Given the description of an element on the screen output the (x, y) to click on. 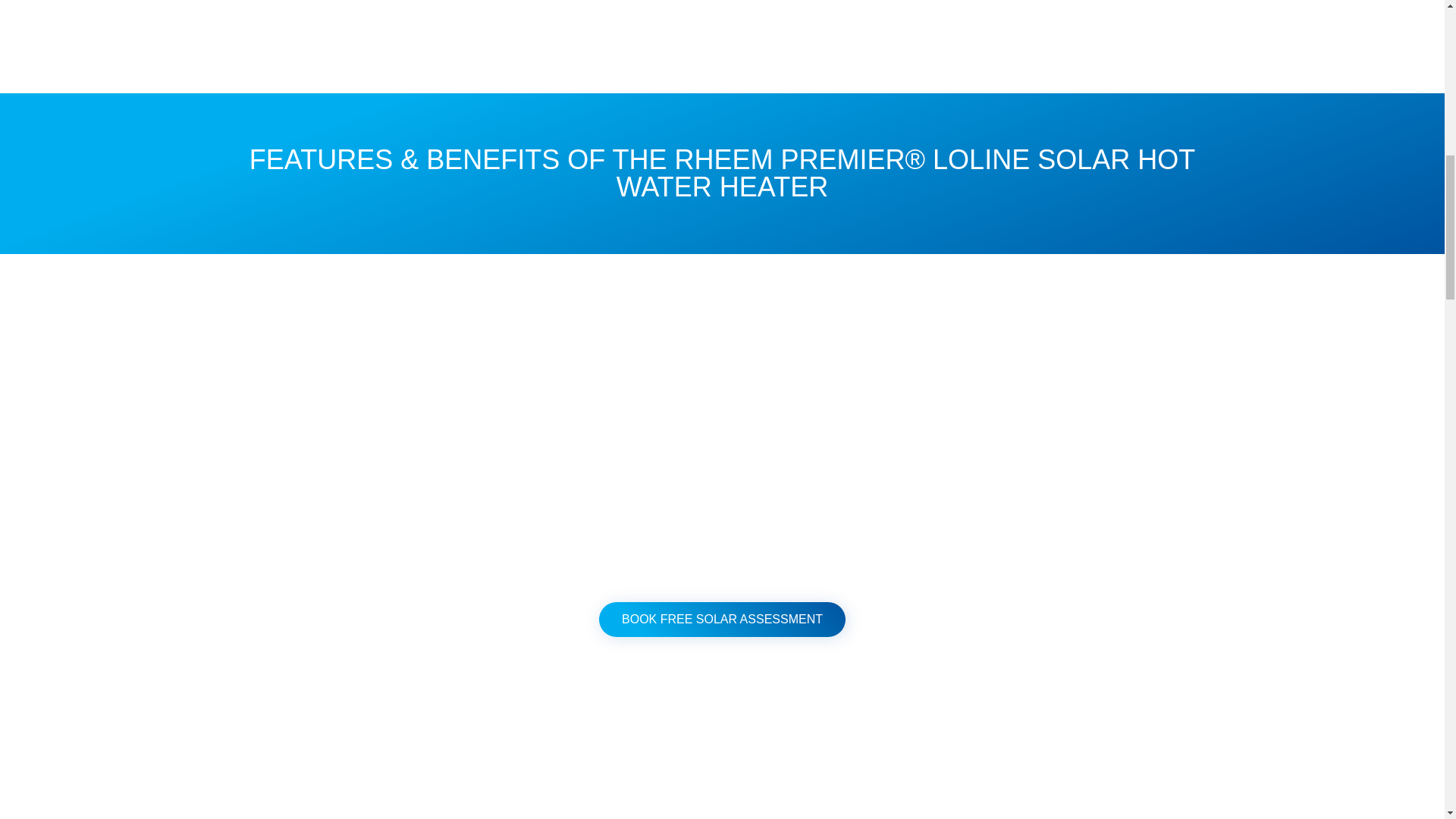
BOOK FREE SOLAR ASSESSMENT (721, 619)
